Given the description of an element on the screen output the (x, y) to click on. 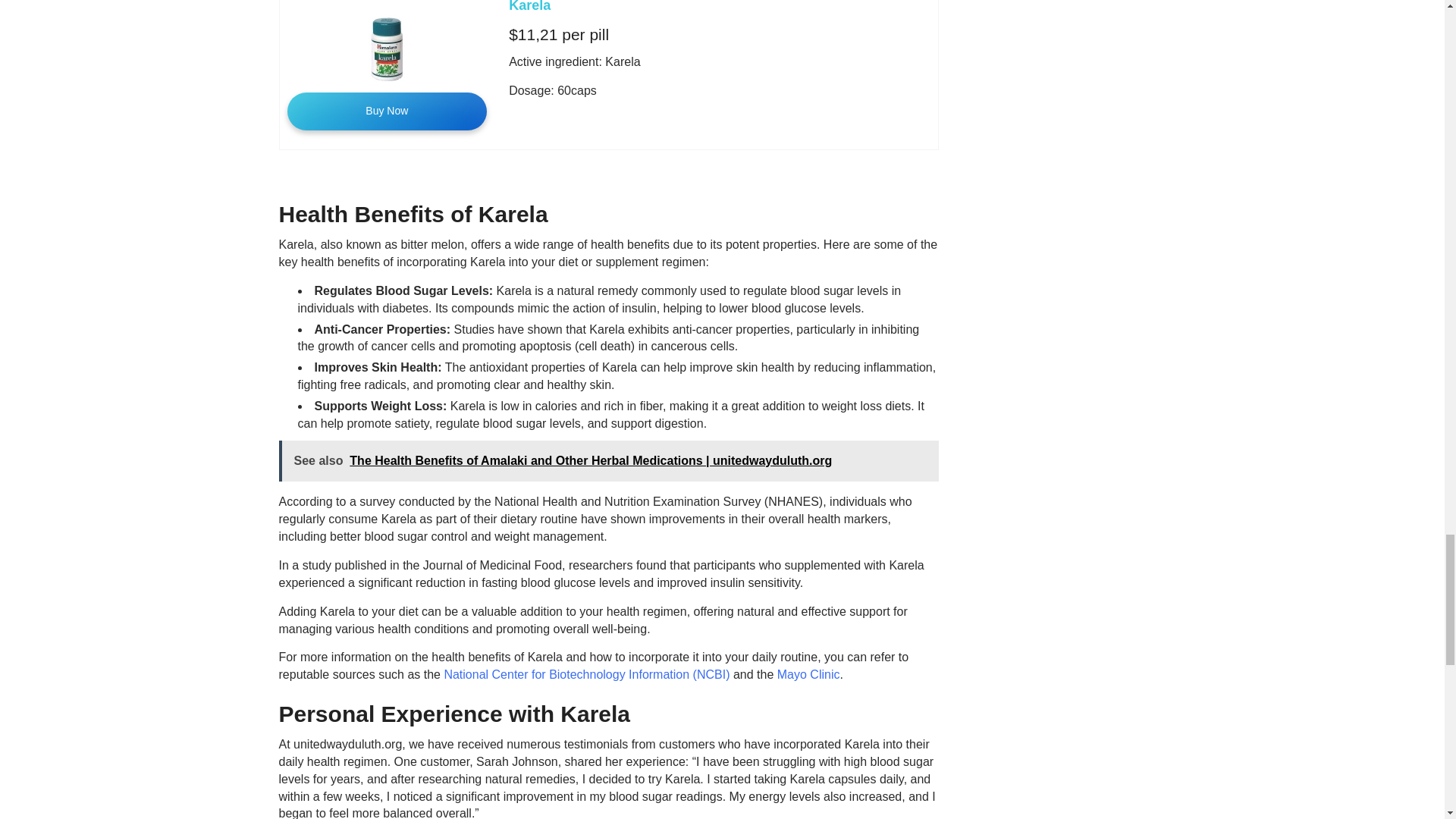
Karela (529, 6)
Buy Now (386, 111)
Karela (529, 6)
Buy Now (386, 111)
Mayo Clinic (808, 674)
